Given the description of an element on the screen output the (x, y) to click on. 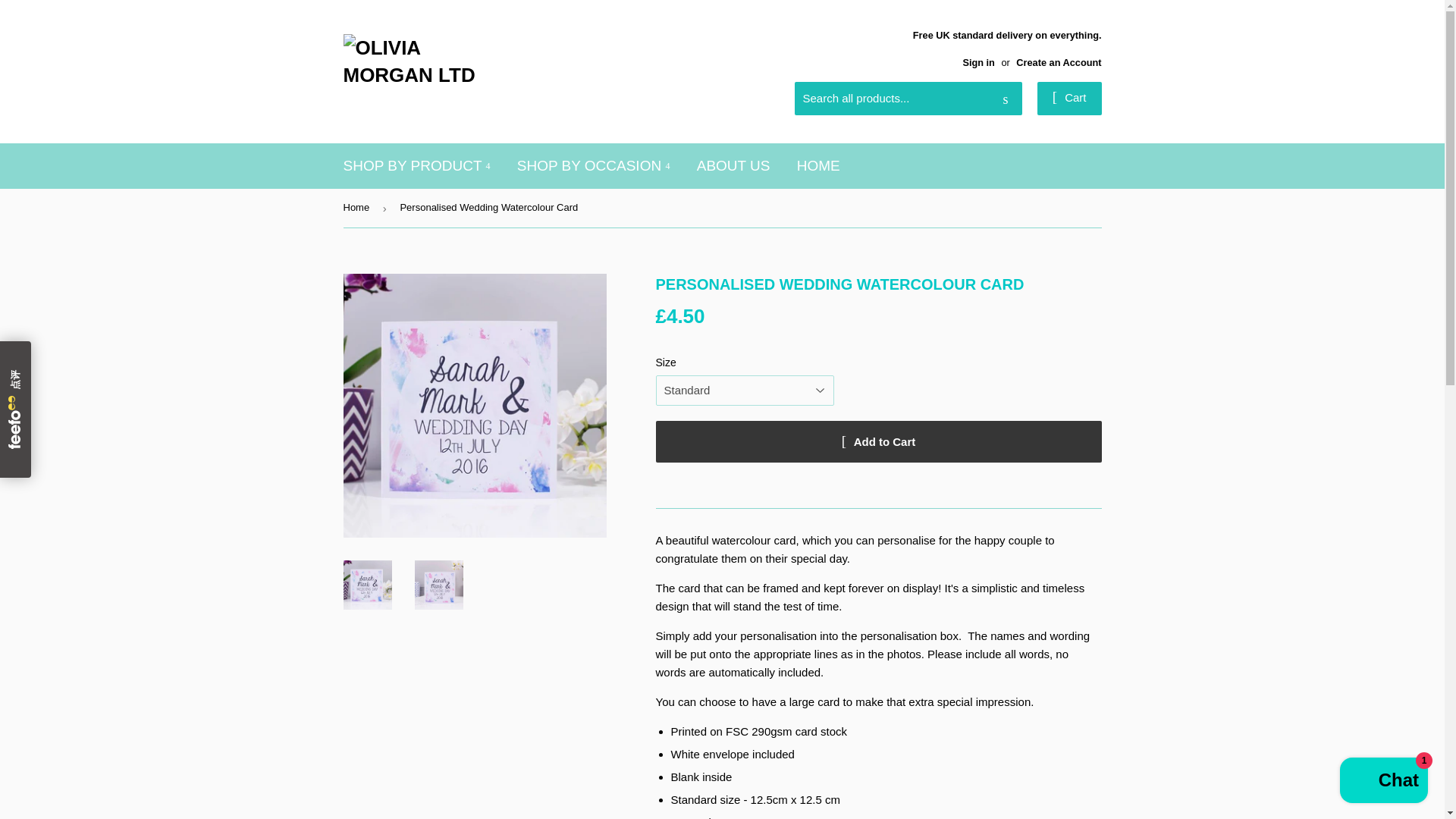
Free UK standard delivery on everything. (1007, 47)
Search (1005, 99)
Back to the frontpage (358, 208)
Create an Account (1058, 61)
Sign in (978, 61)
Shopify online store chat (1383, 781)
Cart (1069, 98)
